Given the description of an element on the screen output the (x, y) to click on. 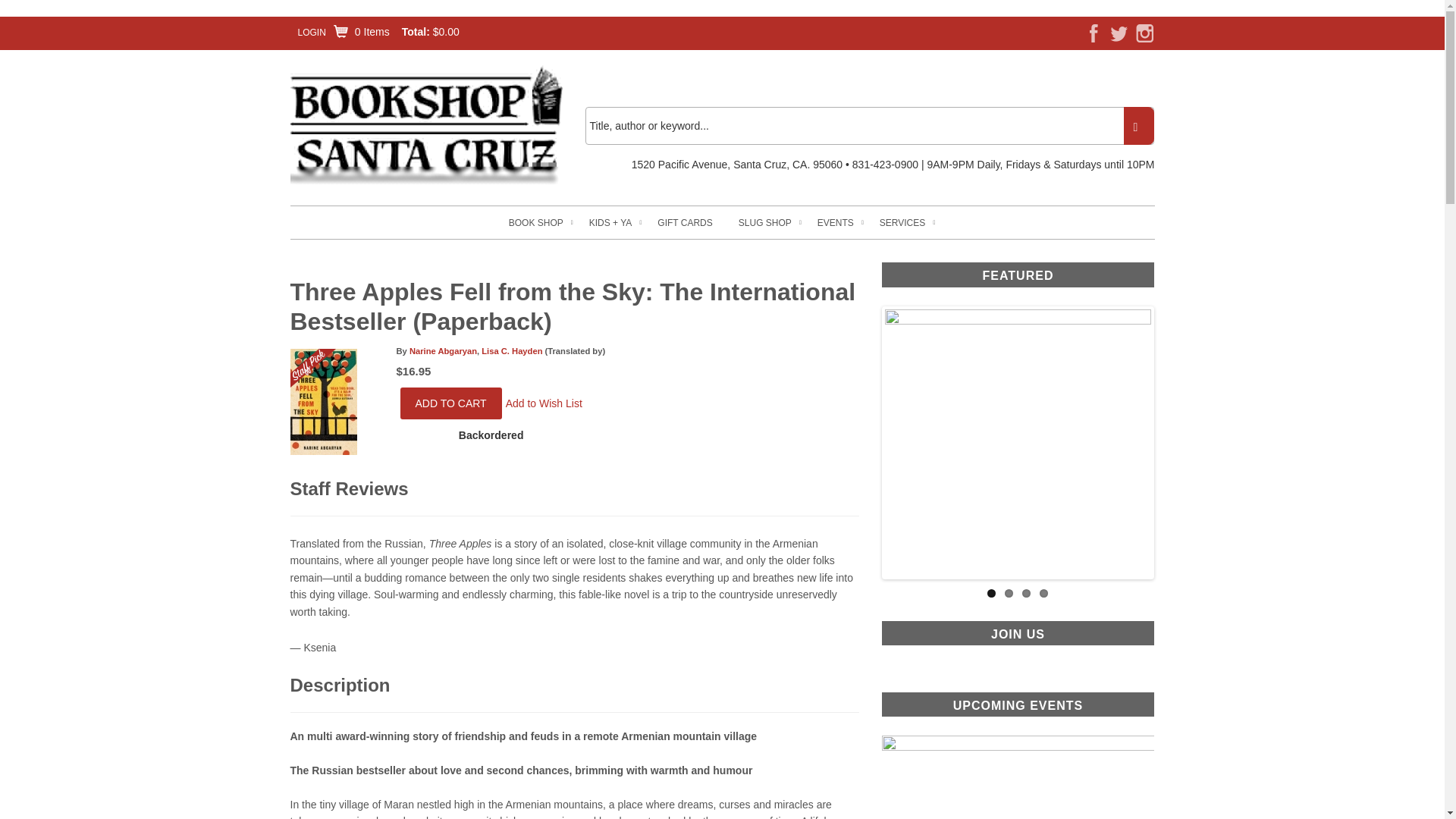
Home (425, 124)
BOOK SHOP (535, 222)
Add to Cart (451, 403)
LOGIN (311, 32)
Title, author or keyword... (869, 125)
